Given the description of an element on the screen output the (x, y) to click on. 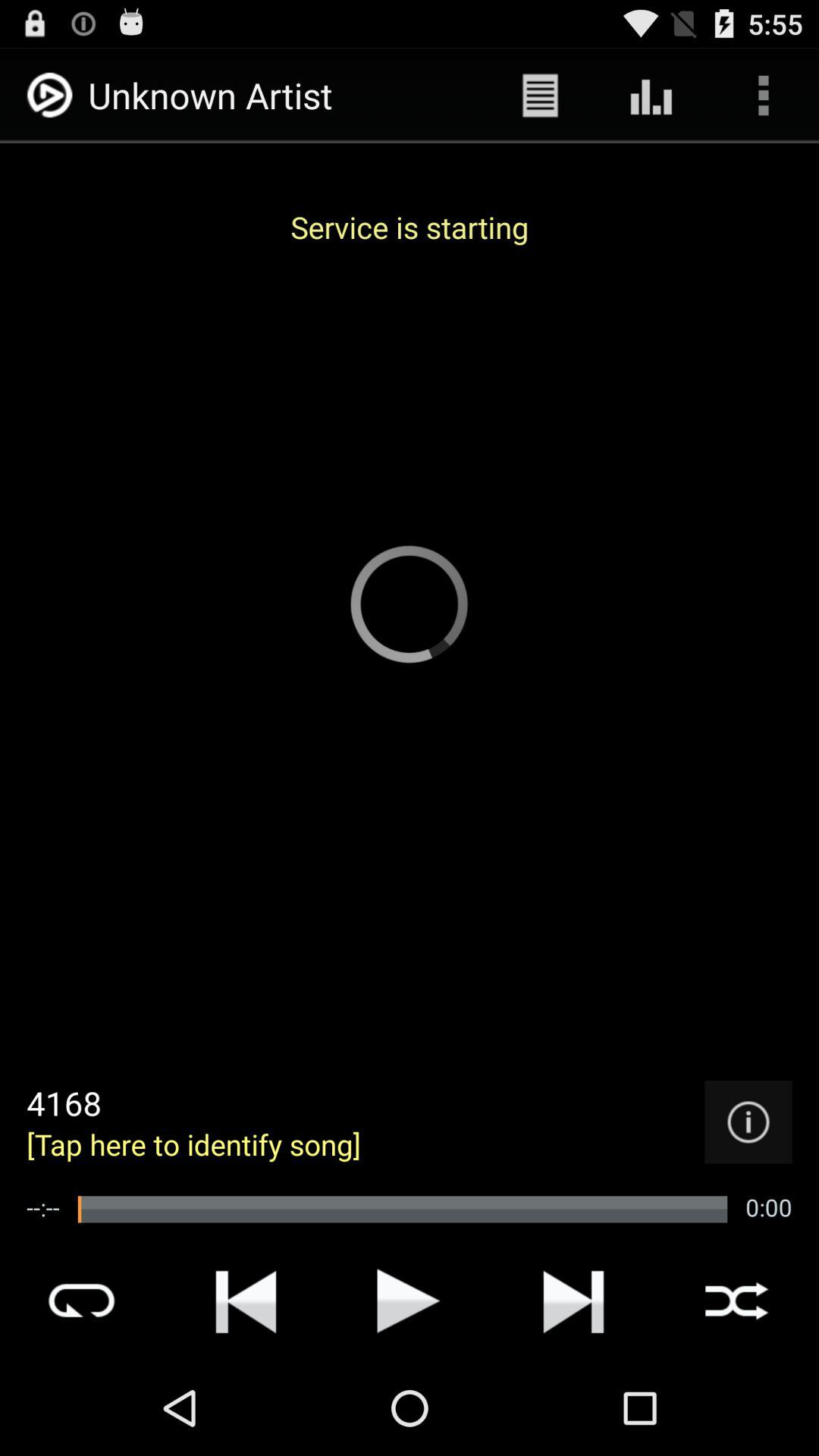
open the item next to --:-- item (402, 1209)
